Given the description of an element on the screen output the (x, y) to click on. 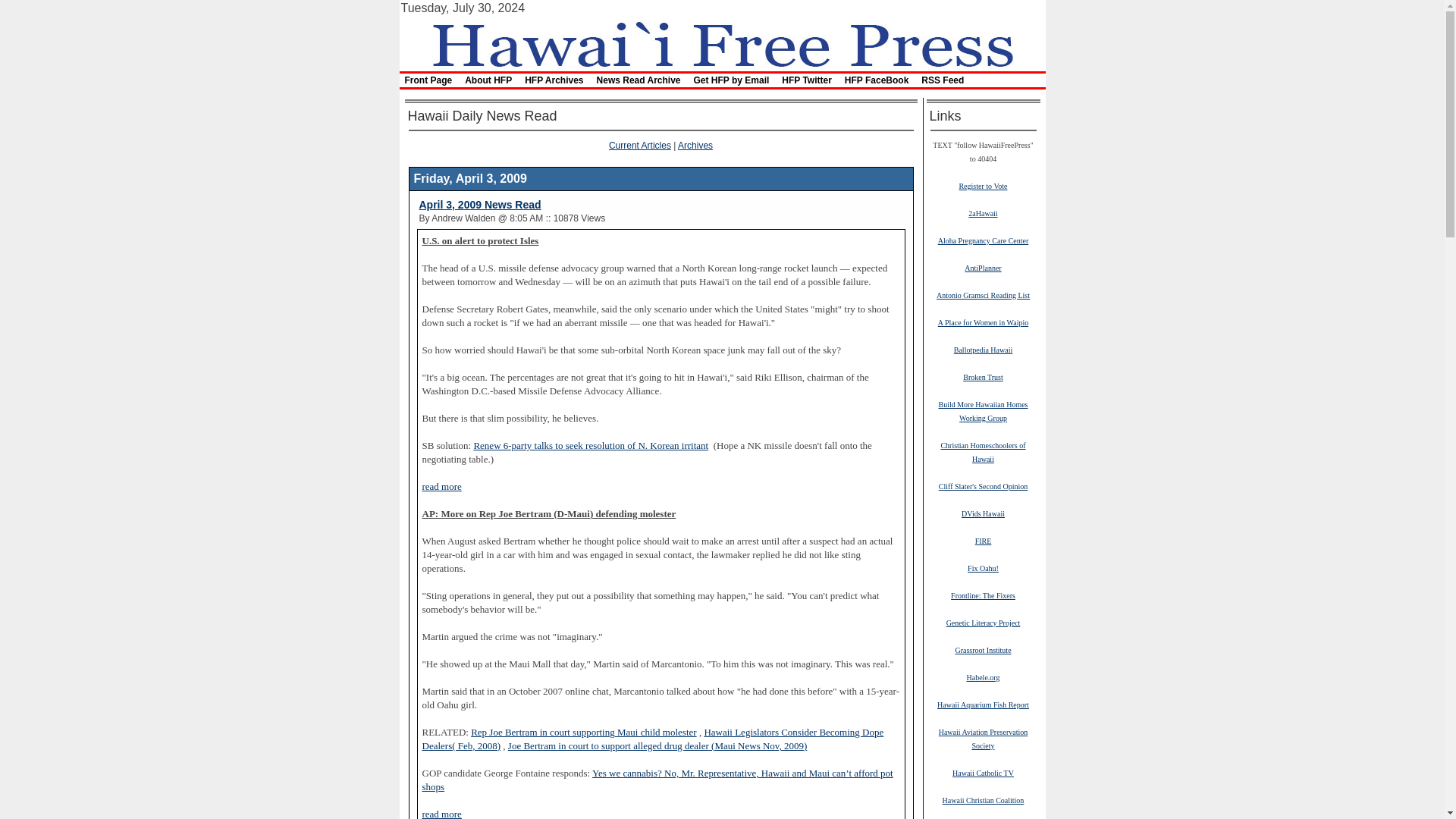
Build More Hawaiian Homes Working Group (982, 410)
FIRE (983, 540)
Current Articles (639, 145)
DVids Hawaii (982, 512)
Ballotpedia Hawaii (982, 348)
Rep Joe Bertram in court supporting Maui child molester (583, 732)
read more (441, 486)
2aHawaii (982, 213)
Renew 6-party talks to seek resolution of N. Korean irritant (590, 445)
Christian Homeschoolers of Hawaii (982, 451)
read more (441, 814)
AntiPlanner (982, 267)
Register to Vote (982, 185)
Antonio Gramsci Reading List (982, 294)
Broken Trust (982, 376)
